Given the description of an element on the screen output the (x, y) to click on. 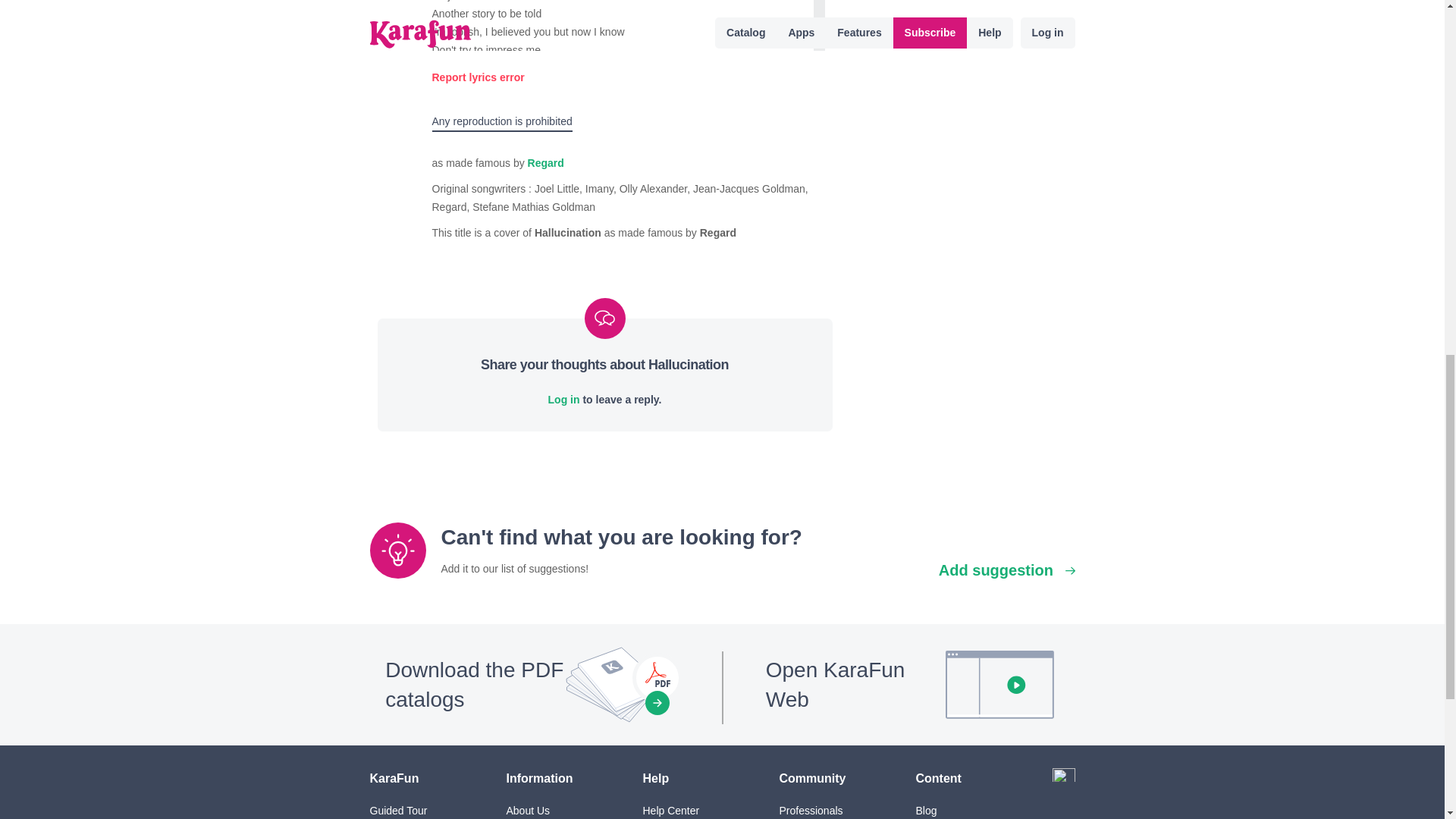
Report lyrics error (478, 77)
I know you're intendin' to hurt me again  (622, 68)
Don't be so fake  (622, 104)
Download the PDF catalogs (534, 684)
Oh oh oh oh  (622, 176)
Log in (563, 399)
Guided Tour (398, 810)
Send (577, 77)
Your love is a hallucination  (622, 140)
Don't try to impress me  (622, 50)
